Given the description of an element on the screen output the (x, y) to click on. 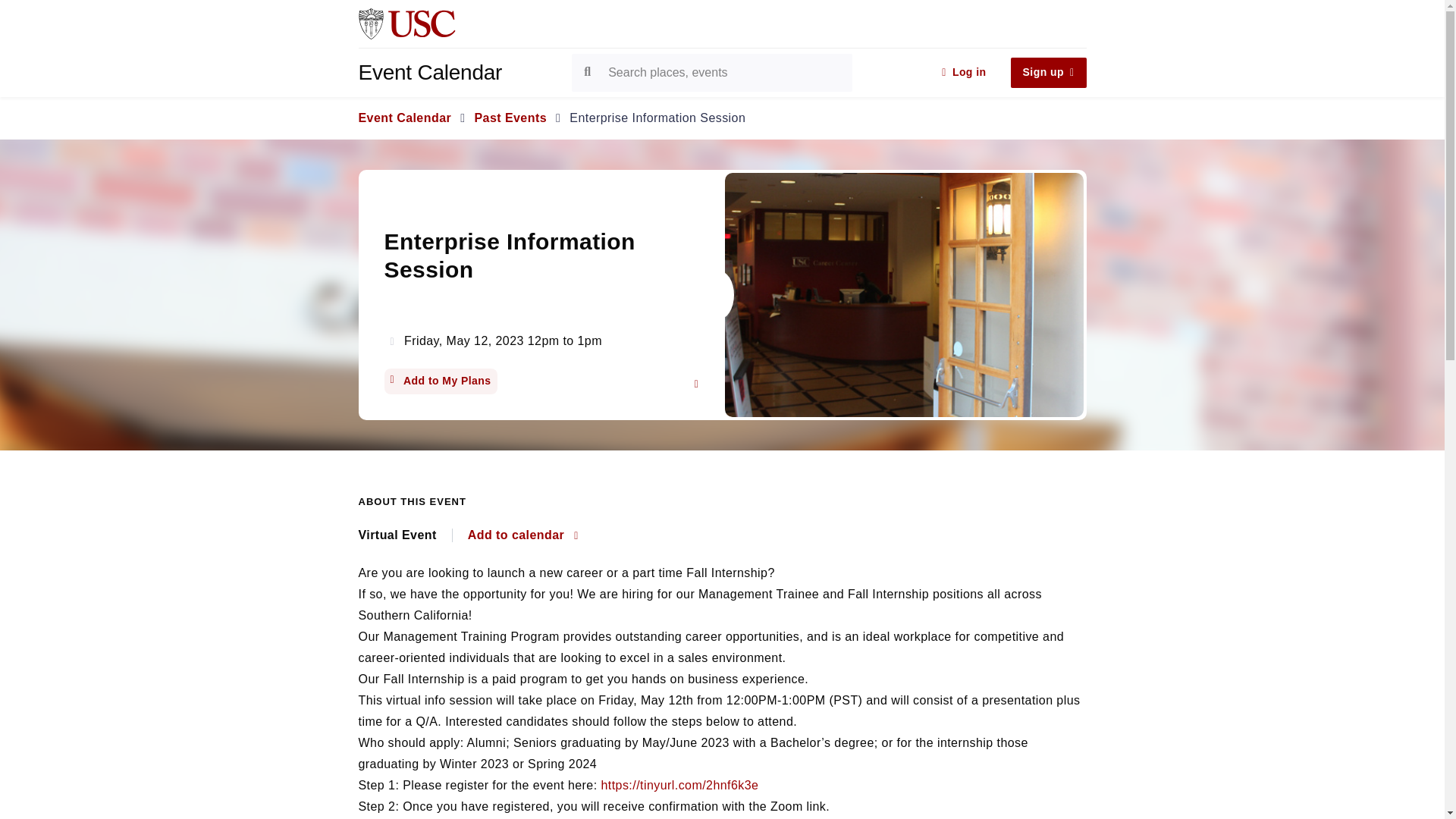
Sign up (1048, 72)
Event Calendar (404, 117)
Add to calendar (522, 535)
Add to My Plans (440, 380)
Go to usc.edu homepage (406, 23)
Event Calendar (462, 72)
Past Events (510, 117)
Log in (963, 72)
